Given the description of an element on the screen output the (x, y) to click on. 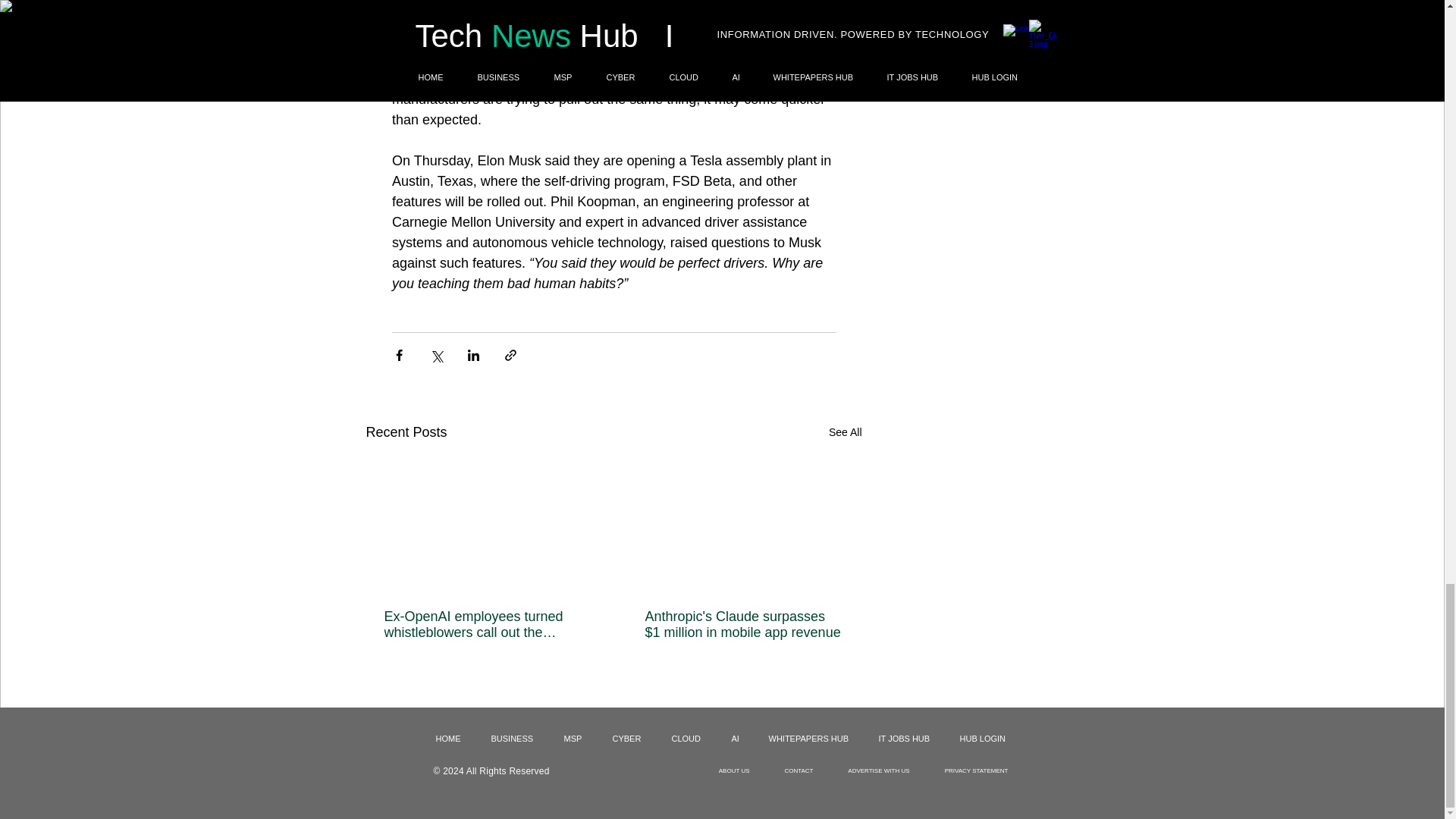
WHITEPAPERS HUB (811, 738)
IT JOBS HUB (908, 738)
HOME (452, 738)
See All (844, 432)
BUSINESS (515, 738)
CYBER (629, 738)
AI (738, 738)
CLOUD (689, 738)
MSP (575, 738)
